Given the description of an element on the screen output the (x, y) to click on. 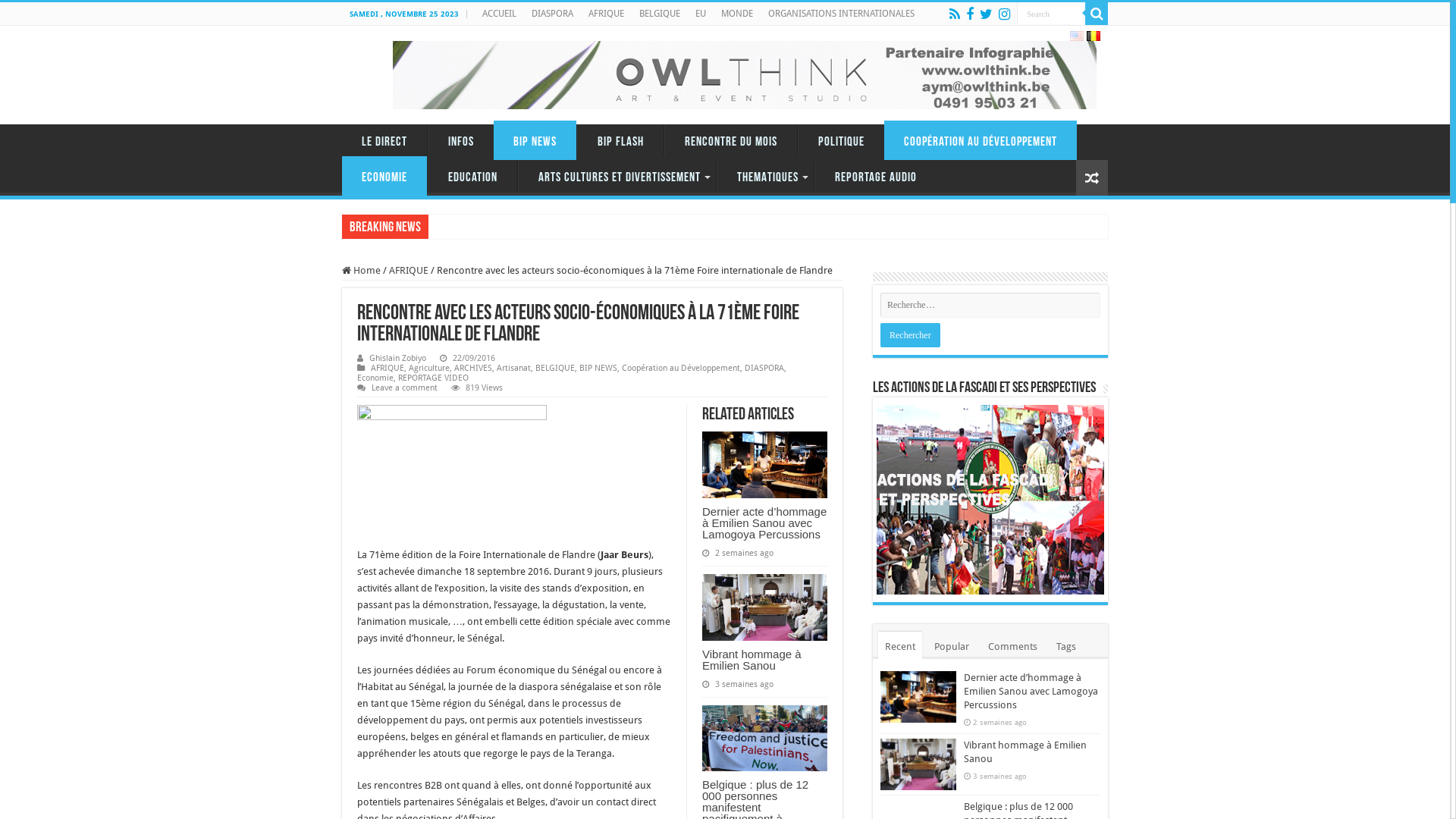
Rechercher Element type: text (910, 335)
RENCONTRE DU MOIS Element type: text (730, 140)
ACCUEIL Element type: text (499, 13)
AFRIQUE Element type: text (387, 368)
Politique Element type: text (840, 140)
ORGANISATIONS INTERNATIONALES Element type: text (841, 13)
Search Element type: text (1096, 13)
BELGIQUE Element type: text (659, 13)
Facebook Element type: hover (969, 14)
Ghislain Zobiyo Element type: text (397, 358)
BIP FLASH Element type: text (620, 140)
THEMATIQUES Element type: text (764, 175)
Twitter Element type: hover (986, 14)
REPORTAGE AUDIO Element type: text (875, 175)
ARTS CULTURES ET DIVERTISSEMENT Element type: text (616, 175)
Recent Element type: text (900, 644)
Popular Element type: text (951, 644)
DIASPORA Element type: text (764, 368)
LE DIRECT Element type: text (384, 140)
Economie Element type: text (375, 377)
DIASPORA Element type: text (552, 13)
EU Element type: text (700, 13)
Education Element type: text (472, 175)
AFRIQUE Element type: text (408, 270)
Tags Element type: text (1065, 644)
instagram Element type: hover (1004, 14)
ARCHIVES Element type: text (473, 368)
AFRIQUE Element type: text (605, 13)
Comments Element type: text (1012, 644)
Agriculture Element type: text (428, 368)
Leave a comment Element type: text (404, 387)
Rss Element type: hover (954, 14)
Artisanat Element type: text (513, 368)
Search Element type: hover (1050, 13)
MONDE Element type: text (736, 13)
Home Element type: text (361, 270)
REPORTAGE VIDEO Element type: text (433, 377)
BELGIQUE Element type: text (554, 368)
Economie Element type: text (384, 175)
BIP NEWS Element type: text (598, 368)
BIP NEWS Element type: text (534, 140)
INFOS Element type: text (460, 140)
